Given the description of an element on the screen output the (x, y) to click on. 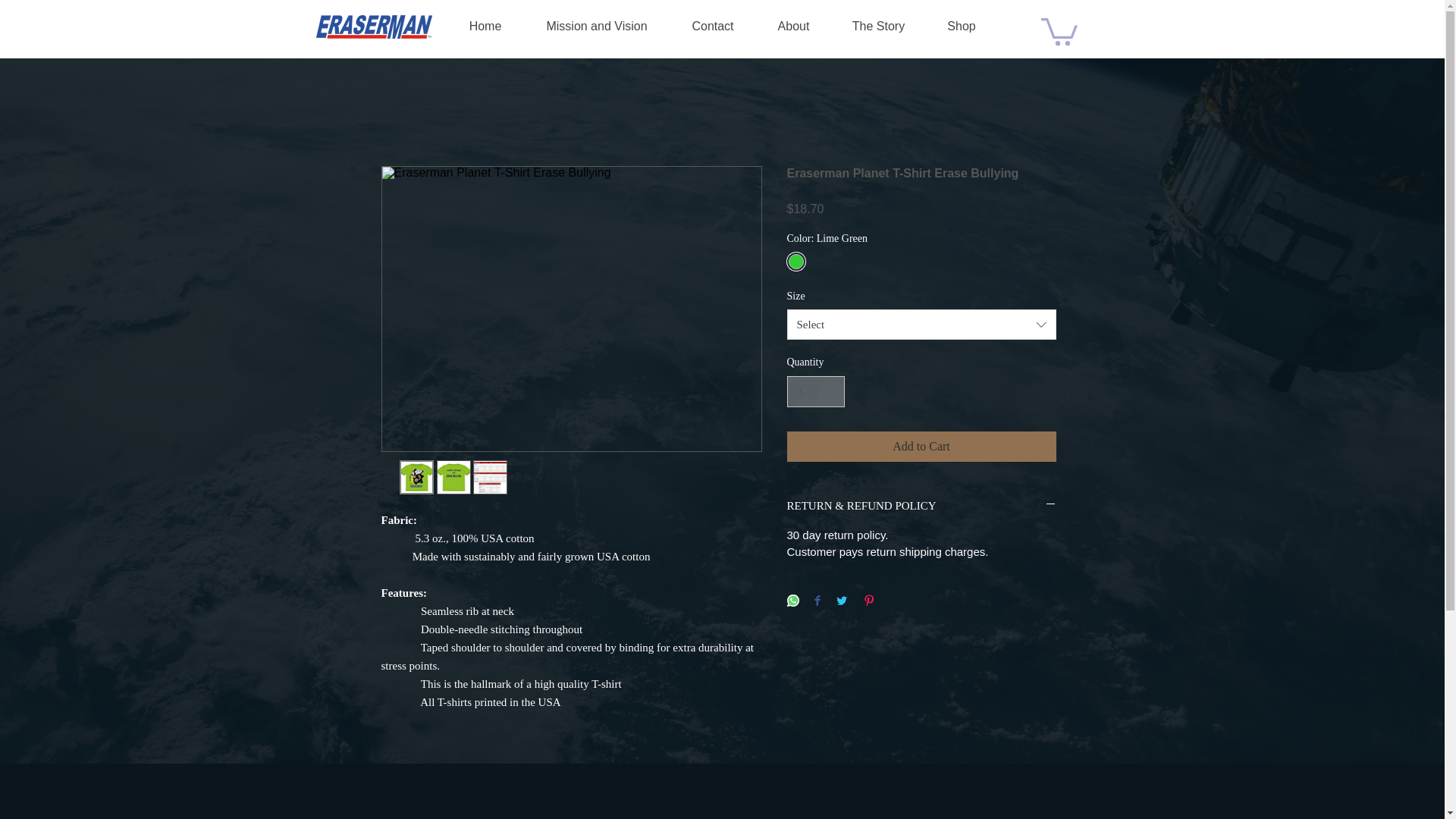
Home (484, 26)
Contact (712, 26)
The Story (877, 26)
Shop (960, 26)
Mission and Vision (595, 26)
About (793, 26)
Add to Cart (922, 446)
1 (815, 391)
Select (922, 324)
